Given the description of an element on the screen output the (x, y) to click on. 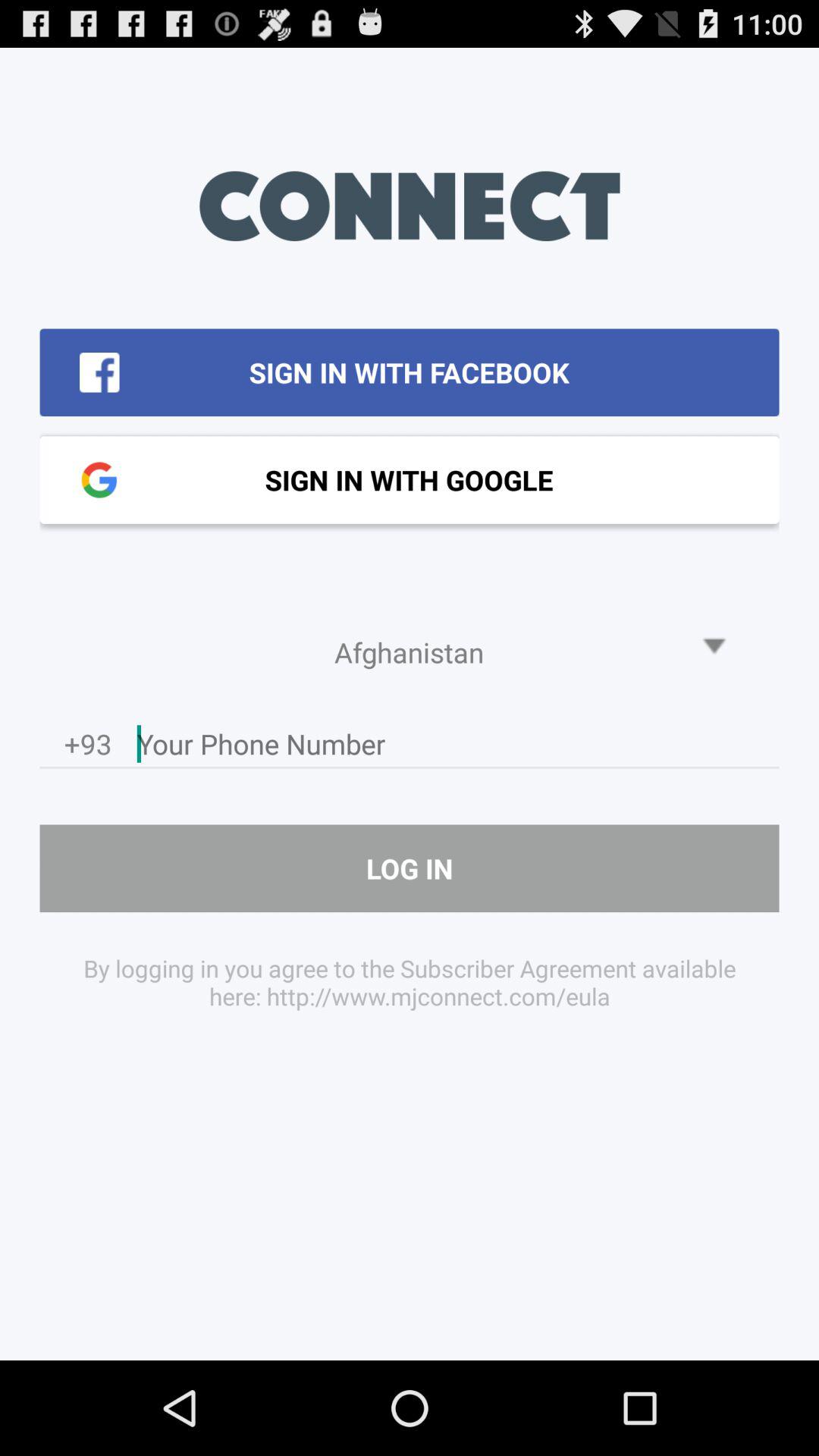
choose item below log in (409, 982)
